Given the description of an element on the screen output the (x, y) to click on. 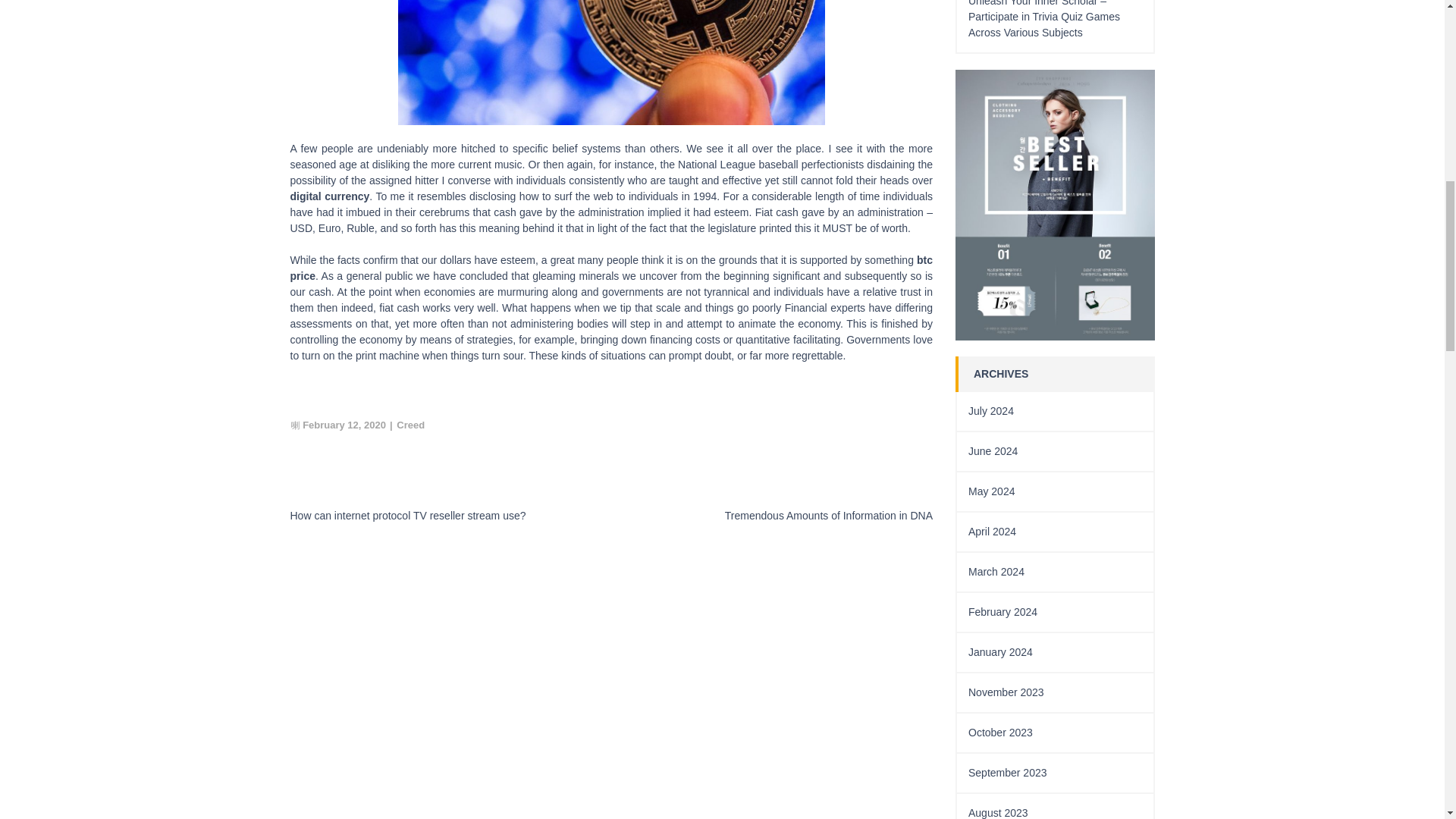
February 12, 2020 (343, 424)
August 2023 (997, 812)
June 2024 (992, 451)
March 2024 (996, 571)
digital currency (329, 196)
May 2024 (991, 491)
How can internet protocol TV reseller stream use? (407, 515)
July 2024 (990, 410)
April 2024 (992, 531)
Tremendous Amounts of Information in DNA (829, 515)
September 2023 (1007, 772)
January 2024 (1000, 652)
October 2023 (1000, 732)
Creed (410, 424)
btc price (611, 267)
